Given the description of an element on the screen output the (x, y) to click on. 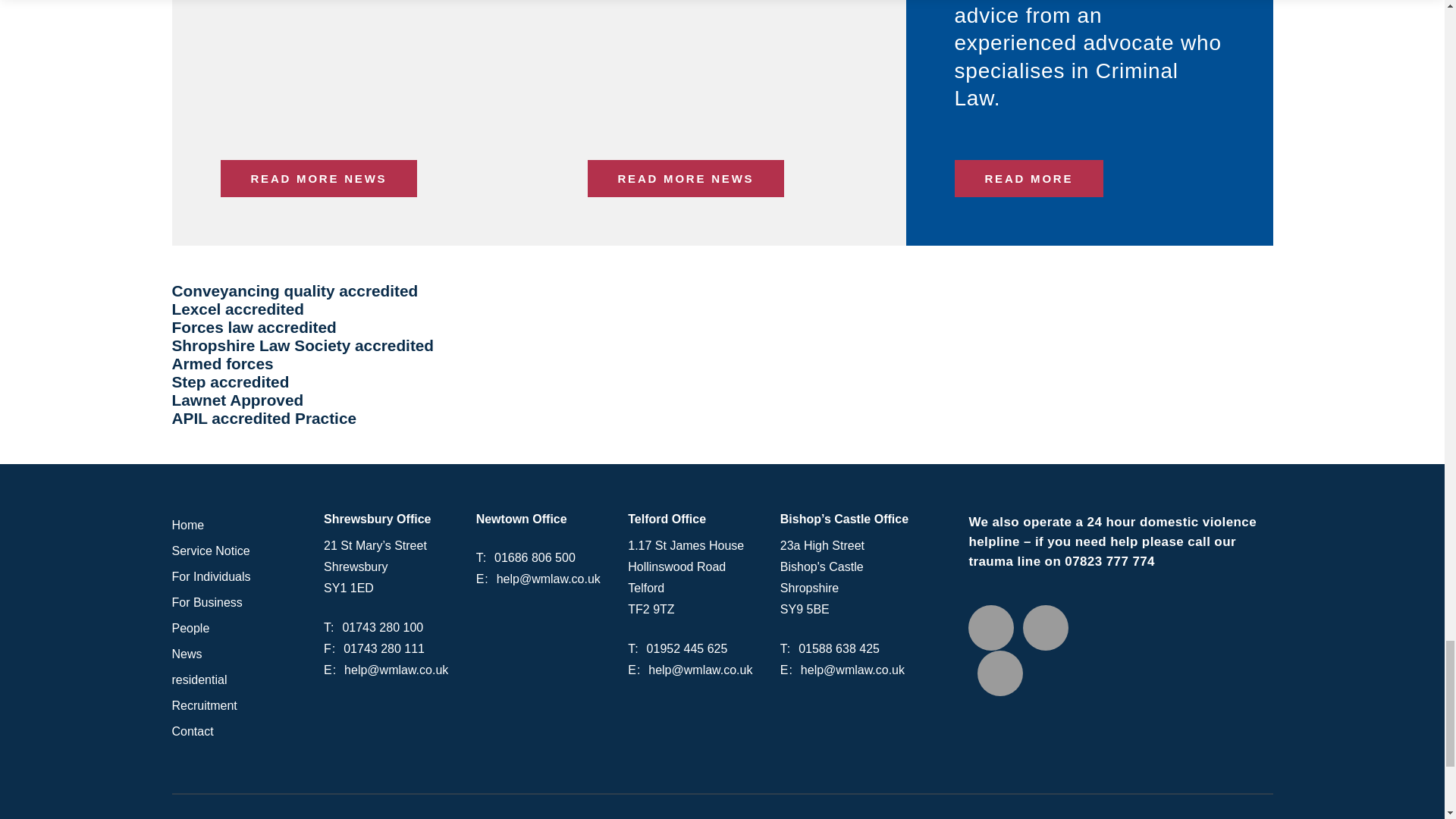
Conveyancing quality accredited (721, 290)
Military Law (1028, 178)
Lexcel accredited (721, 309)
